Given the description of an element on the screen output the (x, y) to click on. 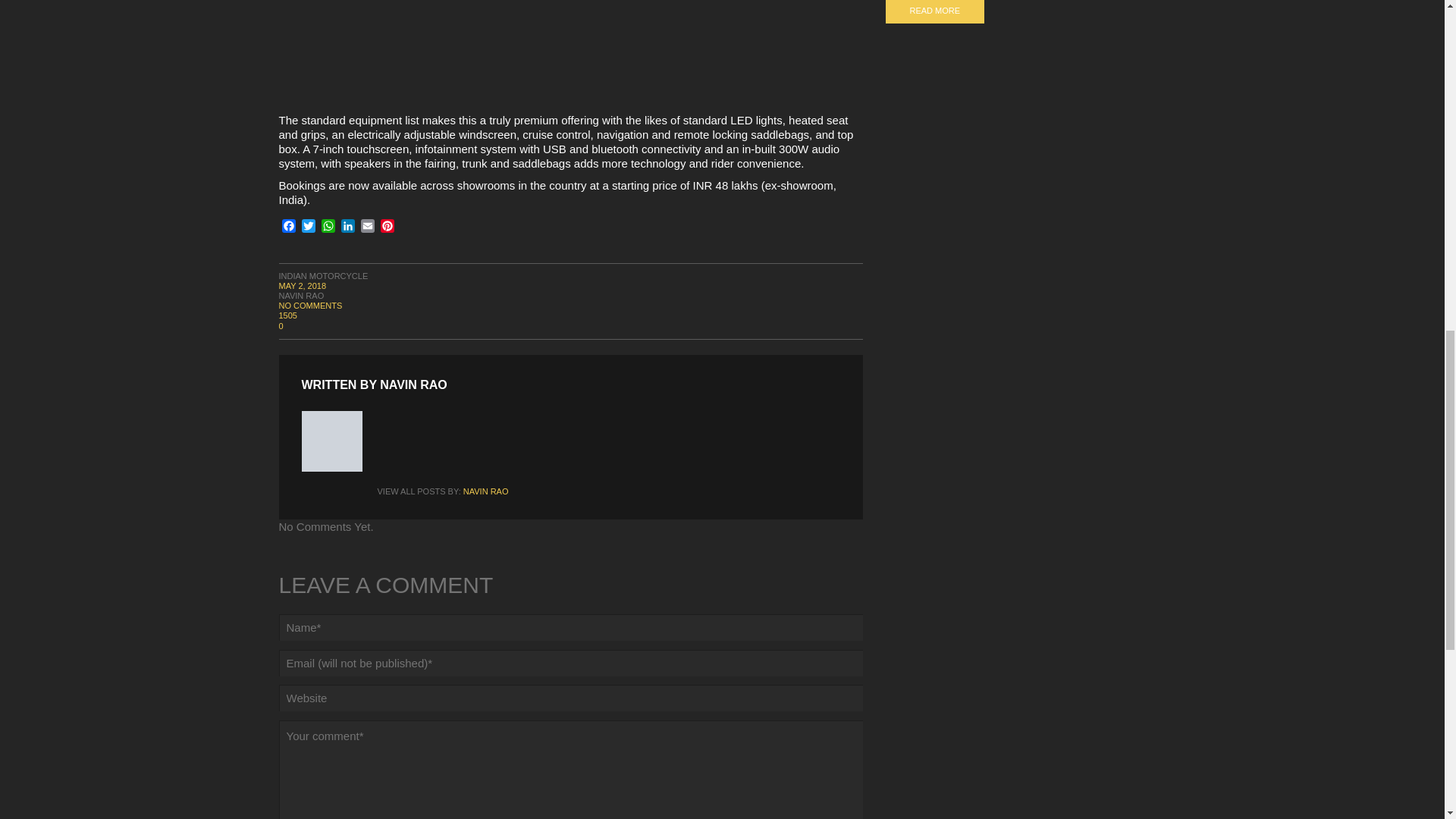
NAVIN RAO (413, 384)
Only registered users can vote! (571, 326)
LinkedIn (347, 227)
Facebook (288, 227)
Twitter (308, 227)
INDIAN MOTORCYCLE (323, 275)
WhatsApp (327, 227)
Posts by Navin Rao (301, 295)
Number of view. (571, 316)
NAVIN RAO (301, 295)
Pinterest (387, 227)
LinkedIn (347, 227)
NO COMMENTS (310, 305)
Twitter (308, 227)
Website (571, 697)
